Given the description of an element on the screen output the (x, y) to click on. 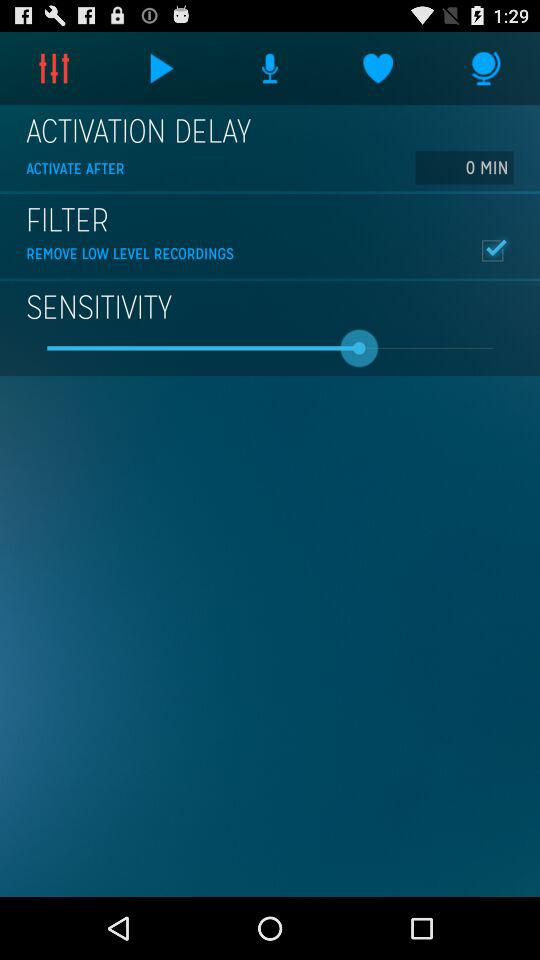
turn on 0 min (464, 167)
